Given the description of an element on the screen output the (x, y) to click on. 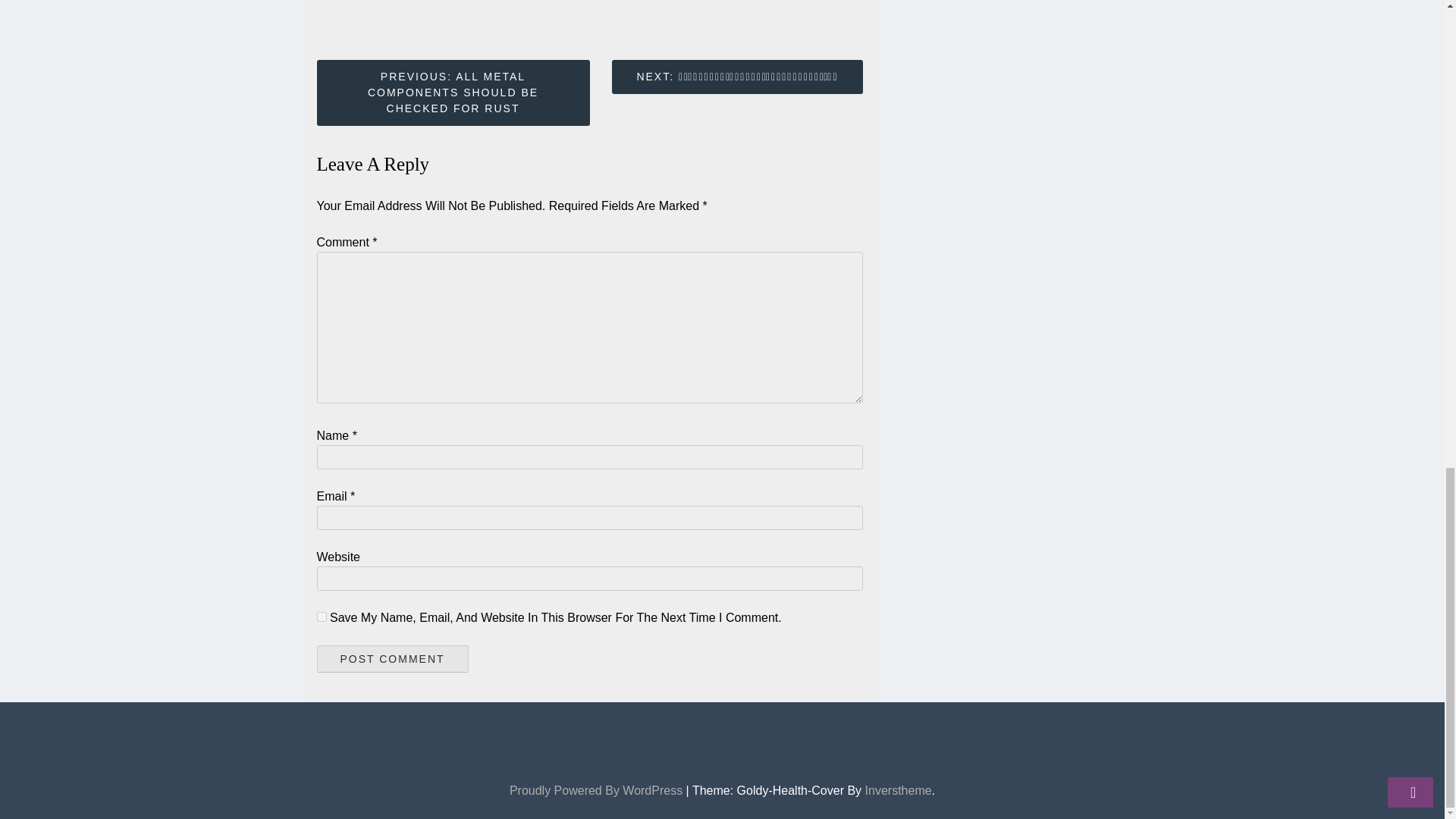
yes (321, 616)
Post Comment (392, 658)
